Given the description of an element on the screen output the (x, y) to click on. 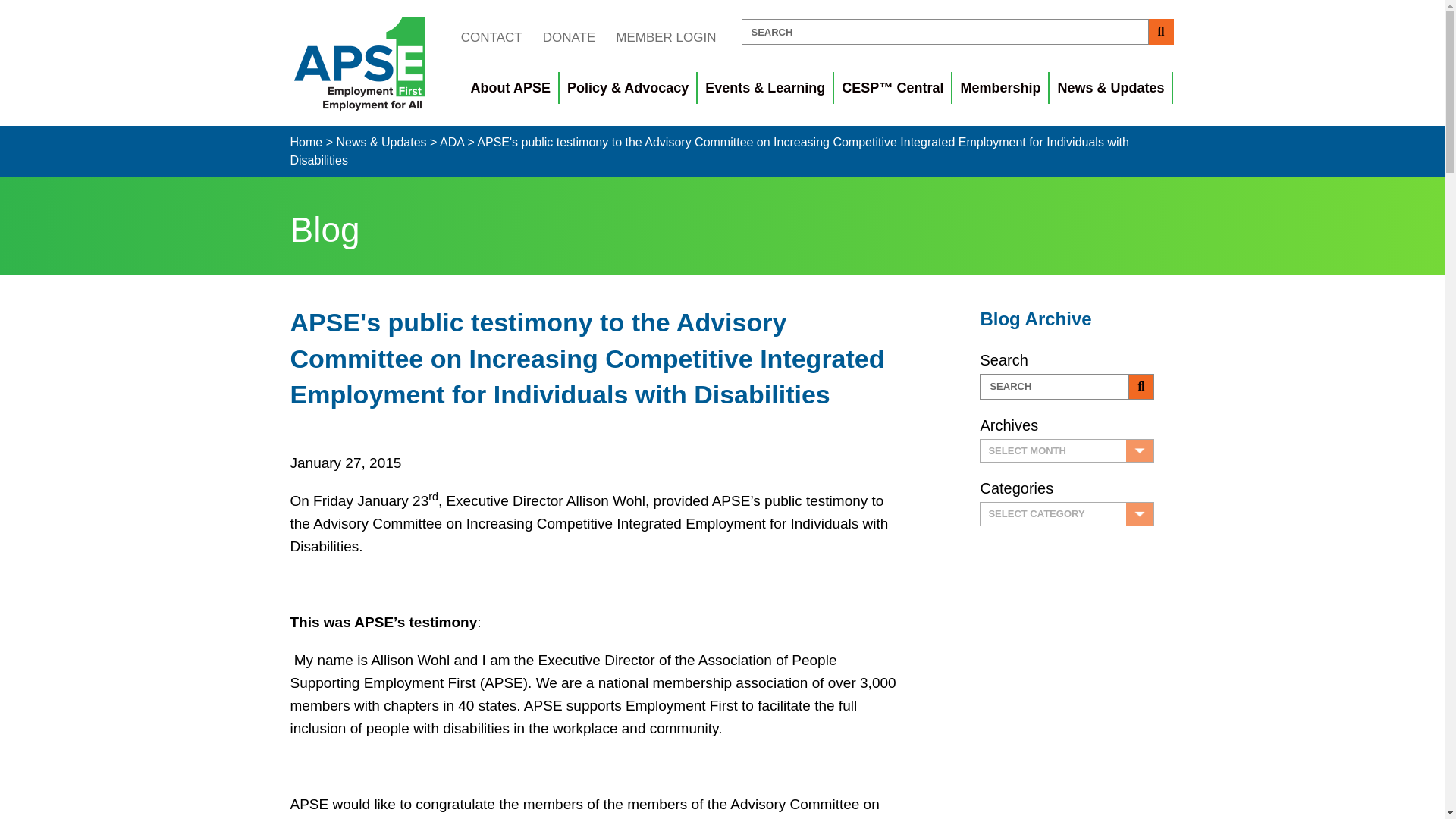
SEARCH (1053, 386)
SEARCH (944, 31)
About APSE (511, 88)
Membership (1000, 88)
Type and press Enter to search. (957, 31)
SEARCH (1053, 386)
SEARCH (944, 31)
Go to Association of People Supporting Employment First. (305, 141)
apse-logo (359, 63)
MEMBER LOGIN (665, 37)
DONATE (568, 37)
Type and press Enter to search. (1066, 386)
CONTACT (491, 37)
Go to the ADA category archives. (451, 141)
